Given the description of an element on the screen output the (x, y) to click on. 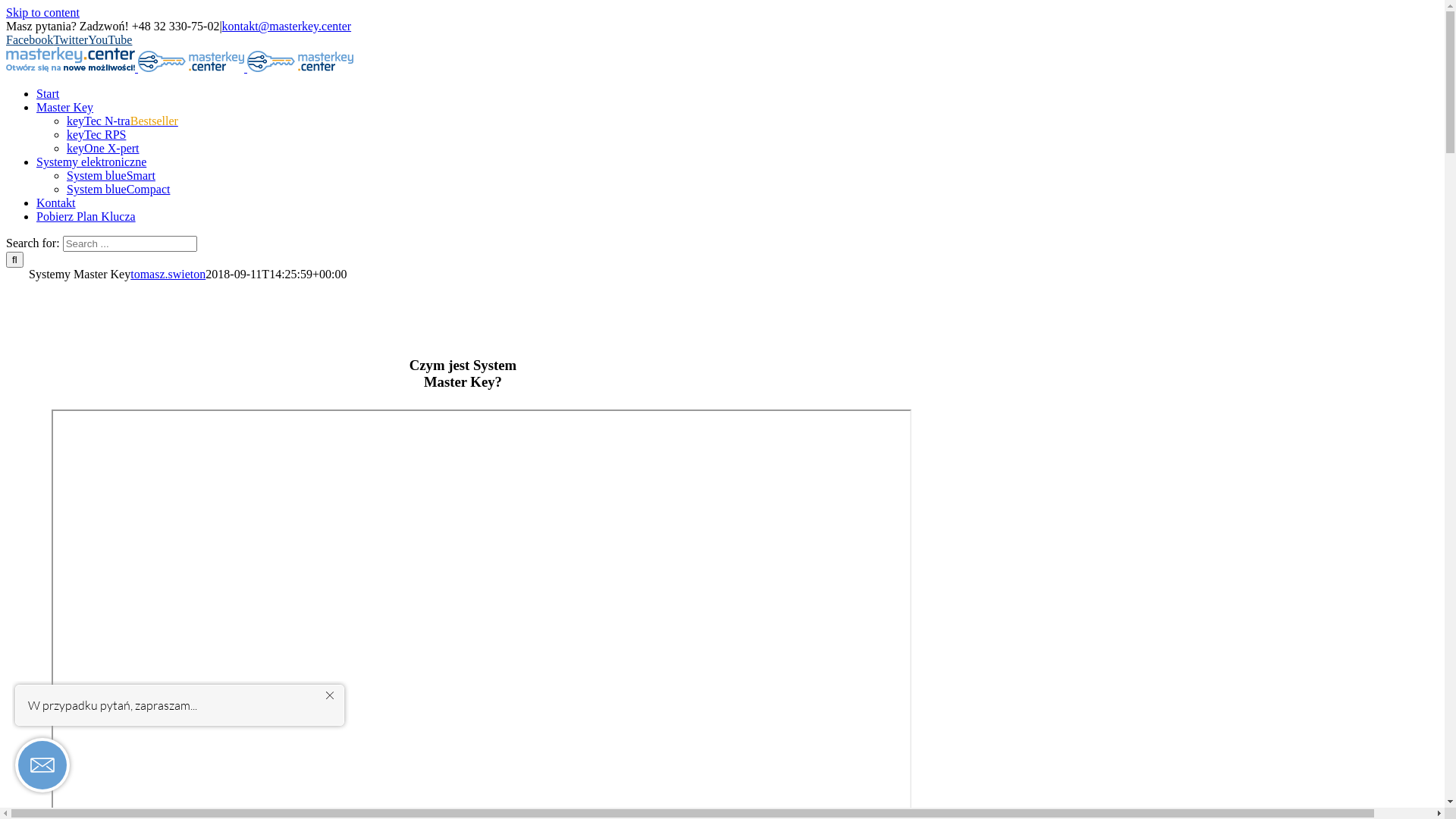
keyOne X-pert Element type: text (102, 147)
tomasz.swieton Element type: text (167, 273)
Systemy elektroniczne Element type: text (91, 161)
System blueCompact Element type: text (117, 188)
Start Element type: text (47, 93)
Thulium Click2Contact Element type: hover (181, 737)
System blueSmart Element type: text (110, 175)
kontakt@masterkey.center Element type: text (286, 25)
Master Key Element type: text (64, 106)
Facebook Element type: text (29, 39)
keyTec N-traBestseller Element type: text (122, 120)
Kontakt Element type: text (55, 202)
YouTube Element type: text (109, 39)
Twitter Element type: text (70, 39)
Skip to content Element type: text (42, 12)
keyTec RPS Element type: text (95, 134)
Pobierz Plan Klucza Element type: text (85, 216)
